Given the description of an element on the screen output the (x, y) to click on. 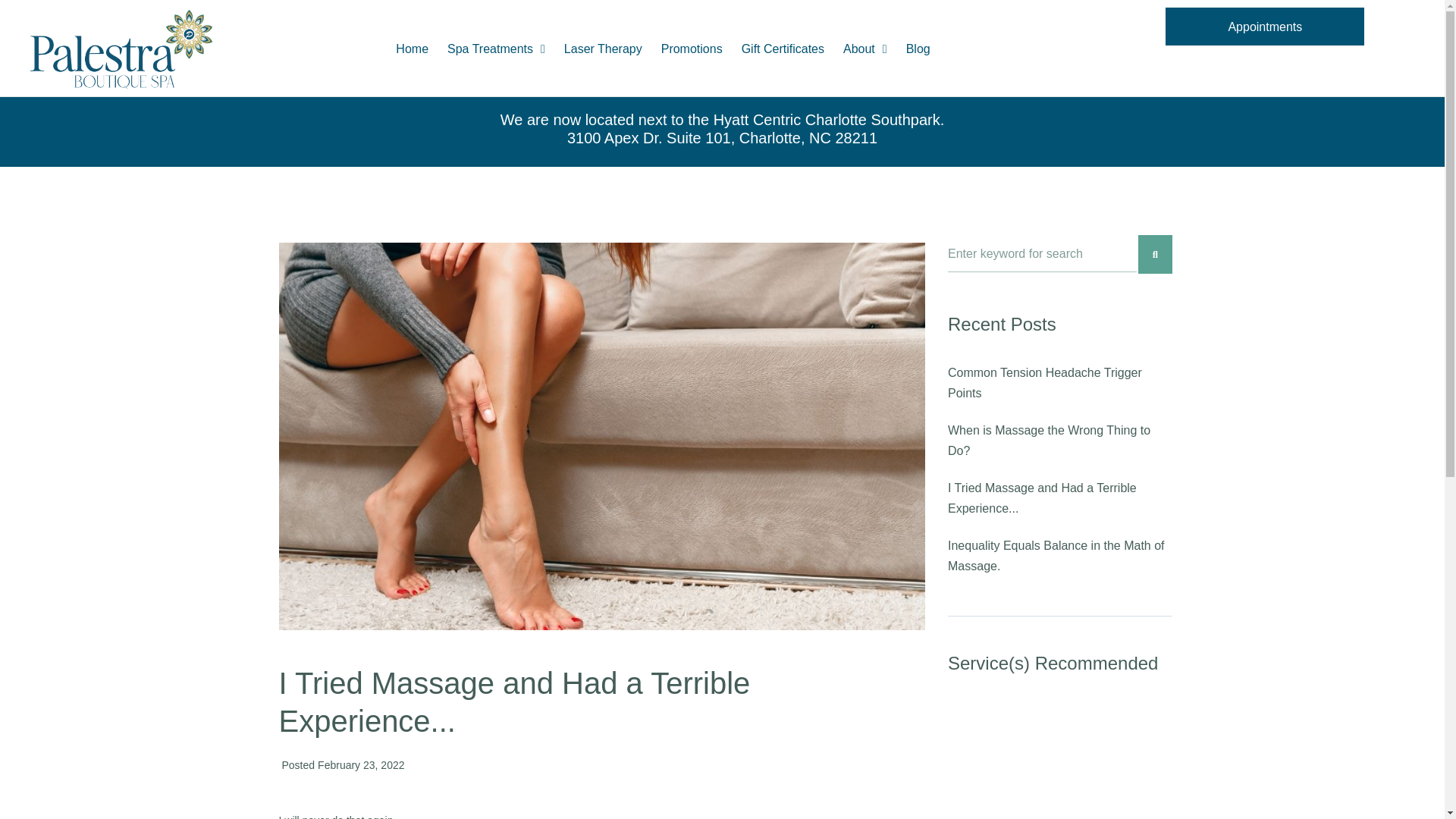
I Tried Massage and Had a Terrible Experience... (1042, 498)
When is Massage the Wrong Thing to Do? (1048, 440)
Laser Therapy (603, 49)
Common Tension Headache Trigger Points (1044, 382)
Inequality Equals Balance in the Math of Massage. (1055, 555)
Appointments (1265, 26)
Blog (918, 49)
Home (411, 49)
About (865, 49)
February 23, 2022 (360, 765)
Gift Certificates (783, 49)
Promotions (692, 49)
Spa Treatments (496, 49)
